Given the description of an element on the screen output the (x, y) to click on. 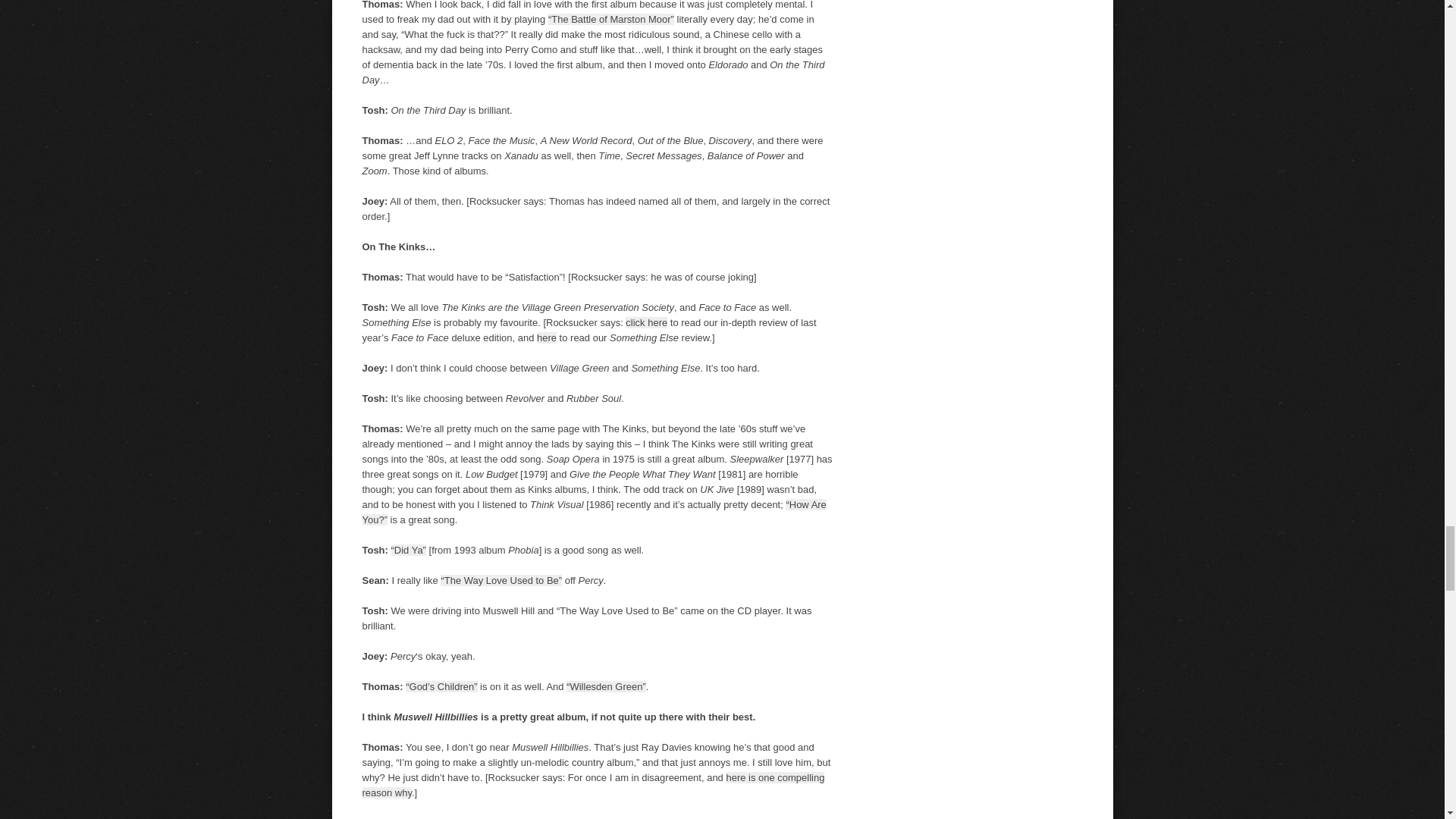
click here (646, 322)
here is one compelling reason why (593, 785)
here (546, 337)
